Given the description of an element on the screen output the (x, y) to click on. 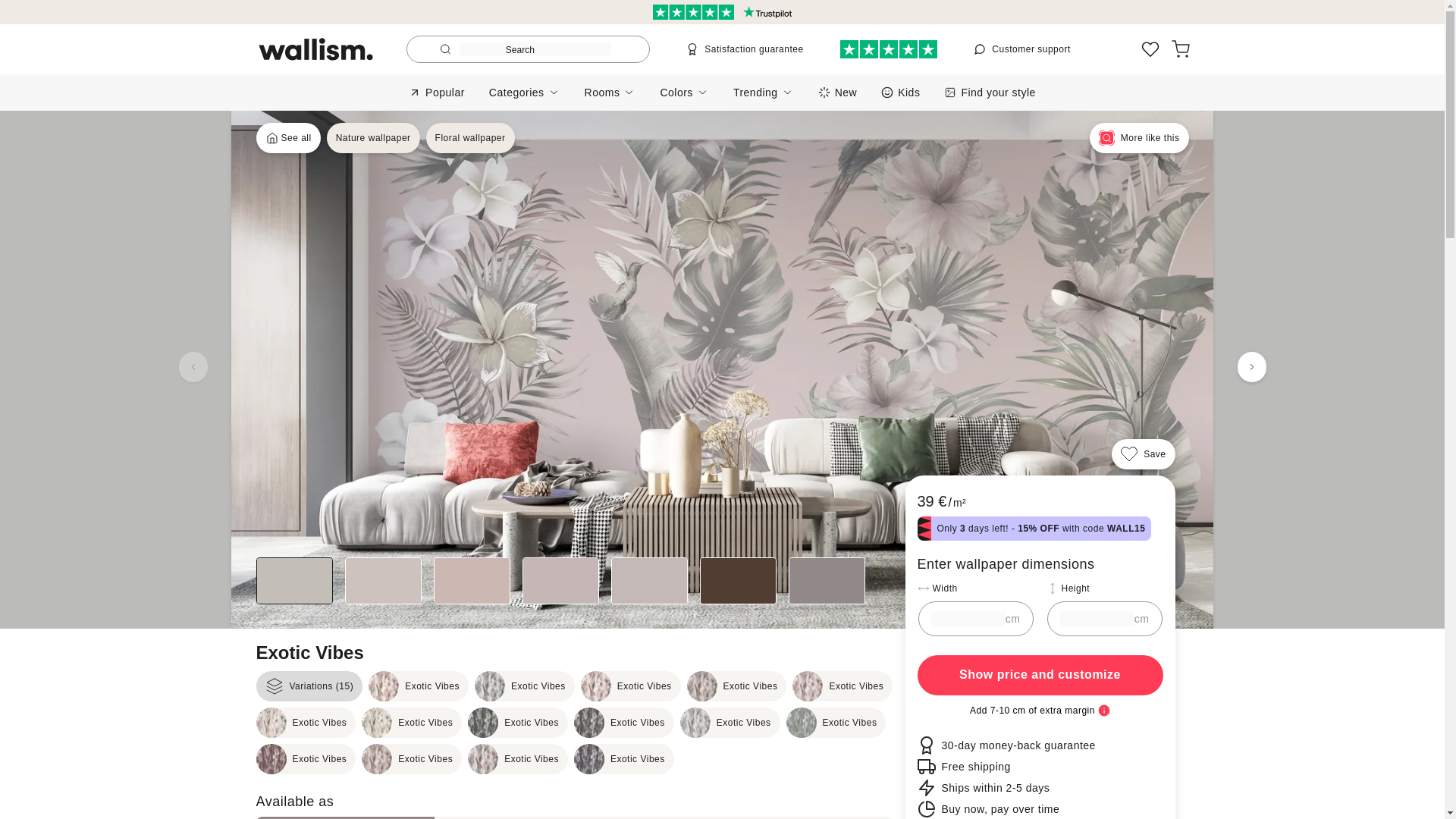
Show price and customize (1040, 675)
Exotic Vibes (418, 685)
Exotic Vibes (842, 685)
See all (288, 137)
Popular (436, 91)
Exotic Vibes (517, 758)
Kids (900, 91)
Satisfaction guarantee (744, 49)
New (837, 91)
Exotic Vibes (836, 722)
